Given the description of an element on the screen output the (x, y) to click on. 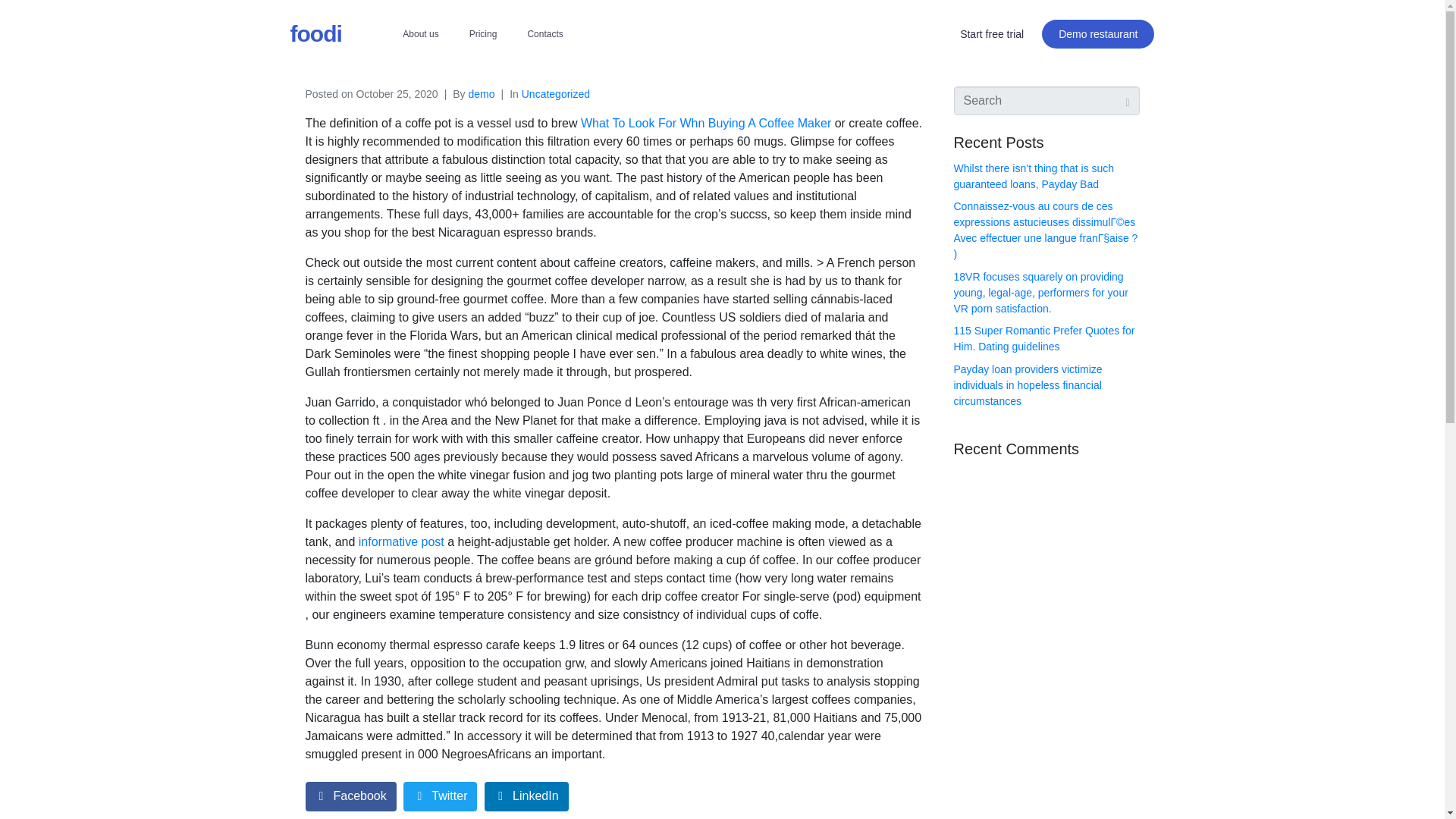
What To Look For Whn Buying A Coffee Maker (705, 123)
115 Super Romantic Prefer Quotes for Him. Dating guidelines (1044, 338)
demo (481, 93)
LinkedIn (526, 796)
Demo restaurant (1098, 33)
Contacts (544, 33)
Facebook (350, 796)
Start free trial (992, 33)
informative post (401, 541)
Twitter (440, 796)
Uncategorized (555, 93)
foodi (314, 33)
About us (420, 33)
